Given the description of an element on the screen output the (x, y) to click on. 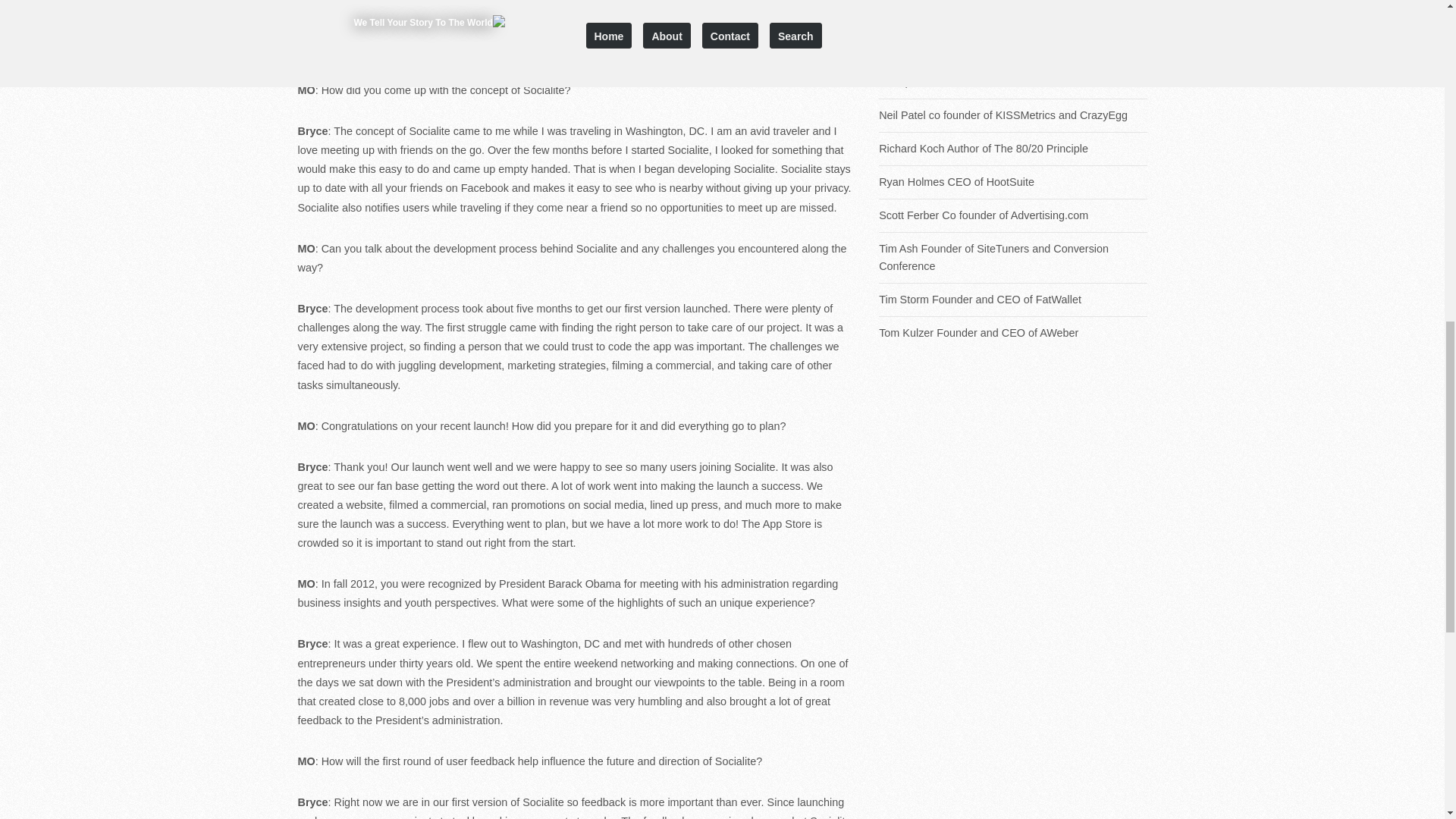
Marc Ostrofsky Business.com and Author of Get Rich Click (1013, 21)
Ryan Holmes CEO of HootSuite (1013, 181)
Tom Kulzer Founder and CEO of AWeber (1013, 333)
Mike Michalowicz Author of "The Toilet Paper Entrepreneur." (1013, 73)
Neil Patel co founder of KISSMetrics and CrazyEgg (1013, 115)
Tim Storm Founder and CEO of FatWallet (1013, 299)
Scott Ferber Co founder of Advertising.com (1013, 215)
Tim Ash Founder of SiteTuners and Conversion Conference (1013, 257)
